Given the description of an element on the screen output the (x, y) to click on. 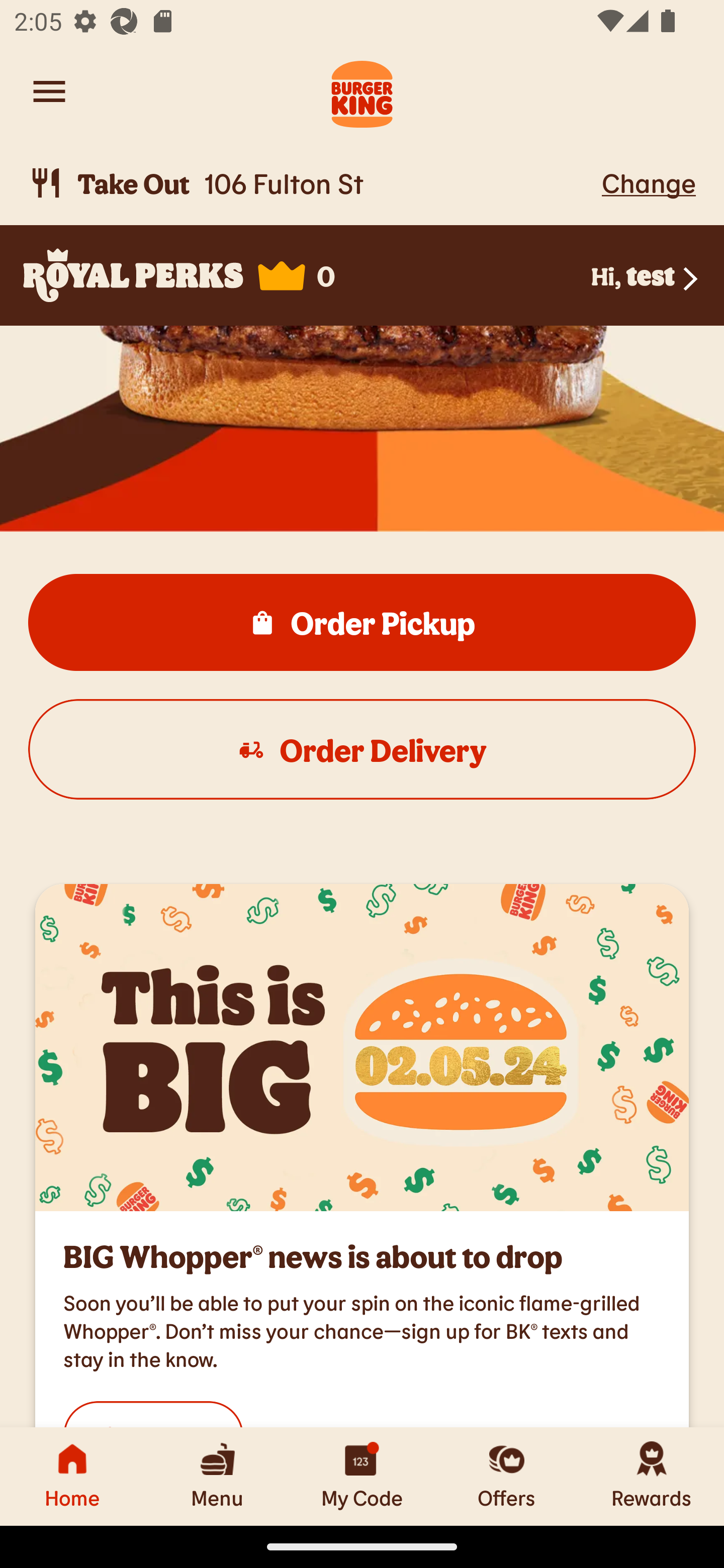
Burger King Logo. Navigate to Home (362, 91)
Navigate to account menu  (49, 91)
Take Out, 106 Fulton St  Take Out 106 Fulton St (311, 183)
Change (648, 182)
, Order Pickup  Order Pickup (361, 622)
, Order Delivery  Order Delivery (361, 749)
MDW Teaser Auth App (361, 1047)
Home (72, 1475)
Menu (216, 1475)
My Code (361, 1475)
Offers (506, 1475)
Rewards (651, 1475)
